Given the description of an element on the screen output the (x, y) to click on. 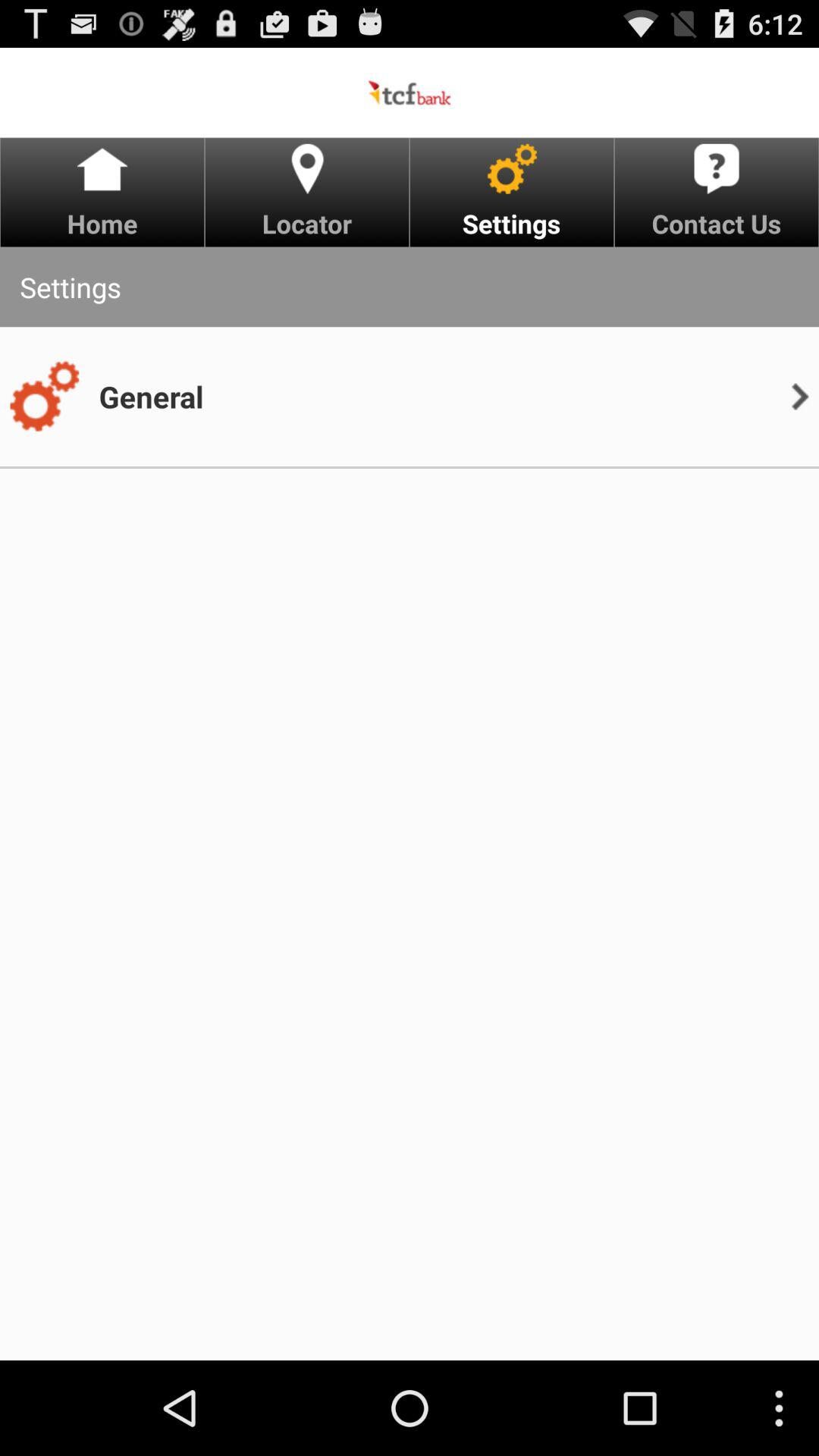
turn on app below the settings (44, 396)
